Given the description of an element on the screen output the (x, y) to click on. 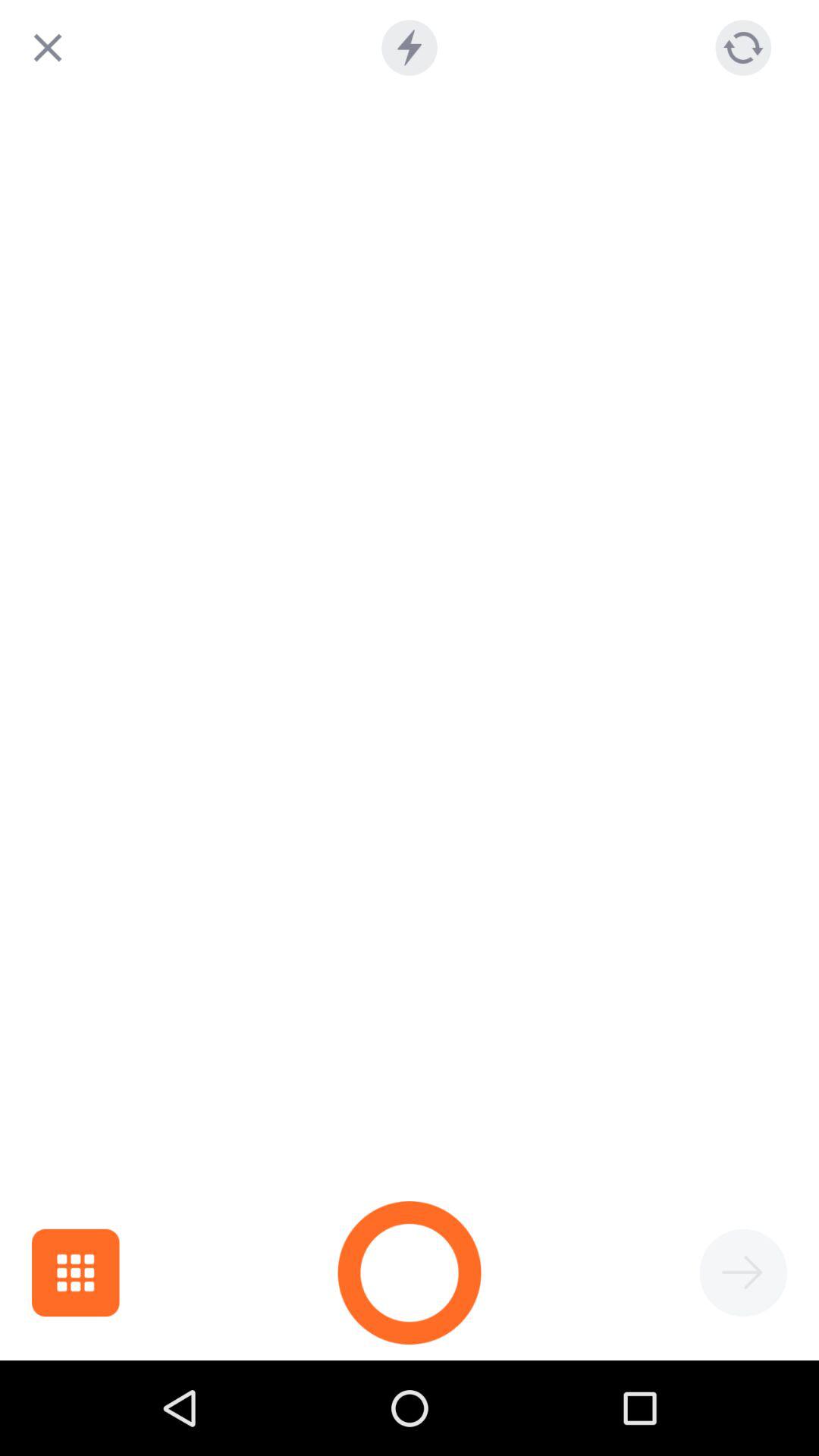
refresh page (743, 47)
